Given the description of an element on the screen output the (x, y) to click on. 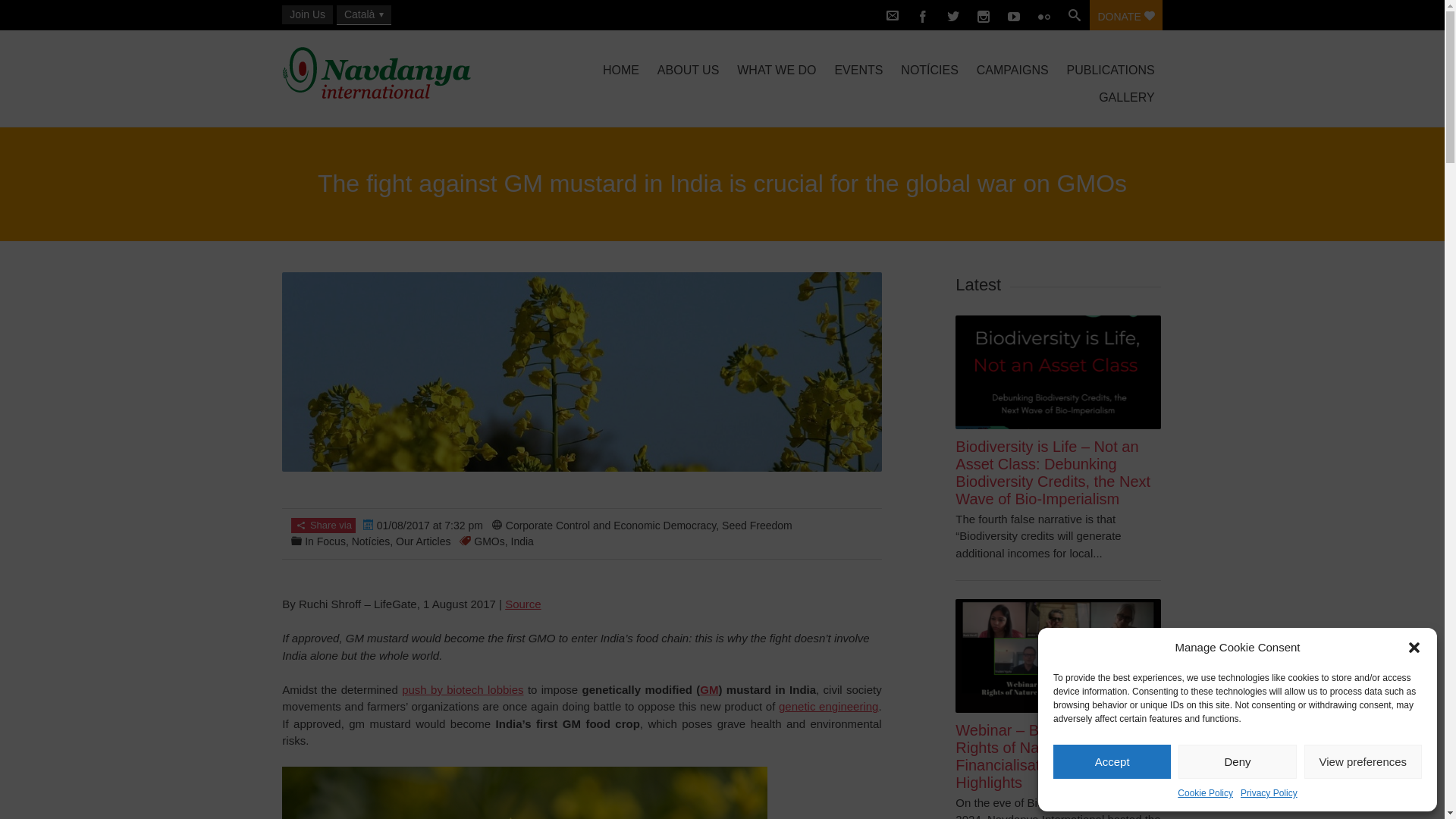
Contact (892, 15)
Instagram (983, 15)
Cookie Policy (1205, 793)
Facebook (922, 15)
Join Us (307, 14)
YouTube (1013, 15)
Accept (1111, 761)
DONATE (1125, 15)
Navdanya international -  (413, 72)
Twitter (952, 15)
Deny (1236, 761)
WHAT WE DO (776, 70)
ABOUT US (687, 70)
Search (1074, 15)
HOME (620, 70)
